Given the description of an element on the screen output the (x, y) to click on. 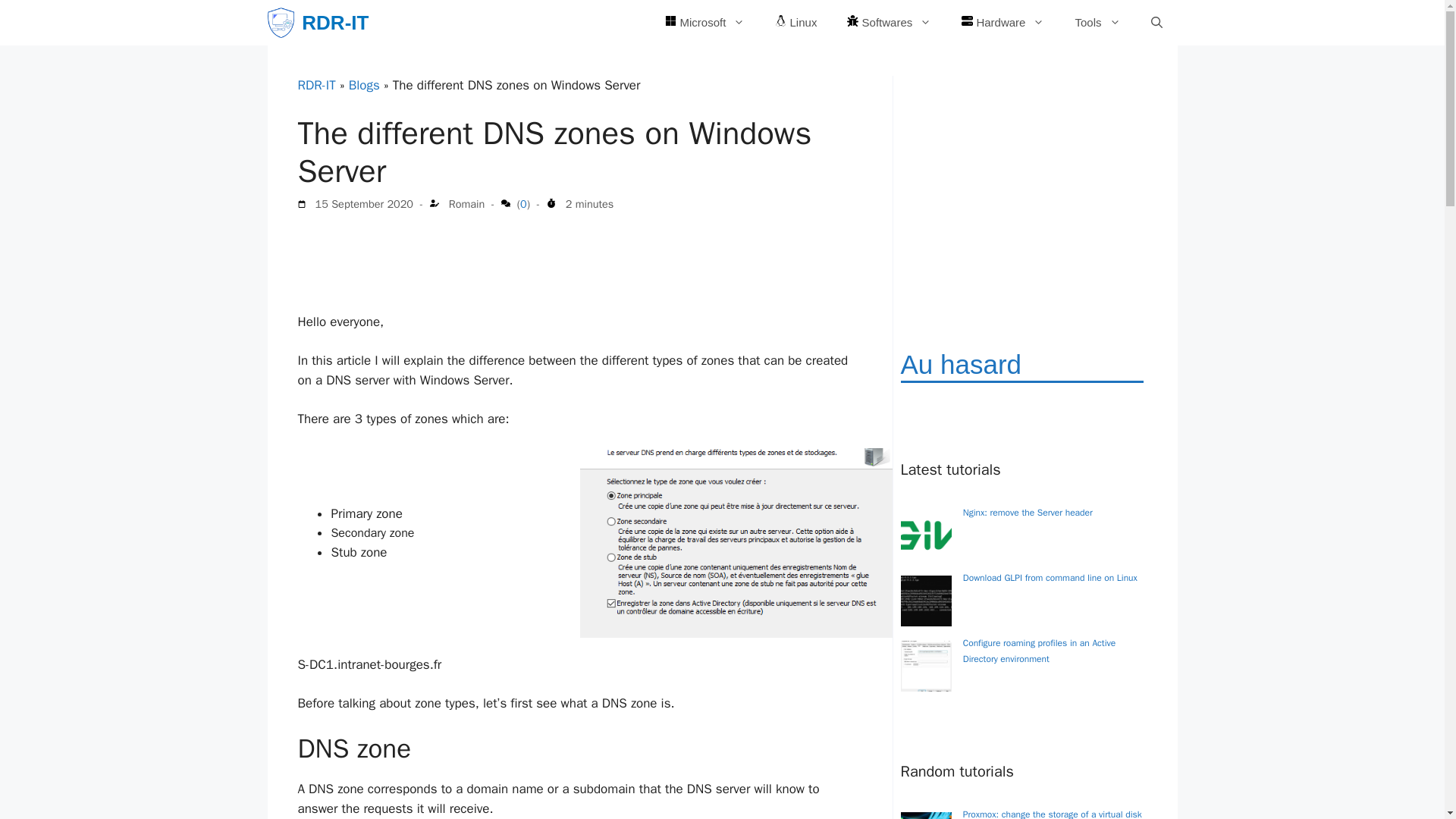
Tools (1097, 22)
Linux (795, 22)
RDR-IT (334, 22)
Hardware (1002, 22)
Advertisement (1014, 193)
Advertisement (572, 246)
Microsoft (704, 22)
Softwares (888, 22)
RDR-IT (315, 84)
Blogs (364, 84)
